Given the description of an element on the screen output the (x, y) to click on. 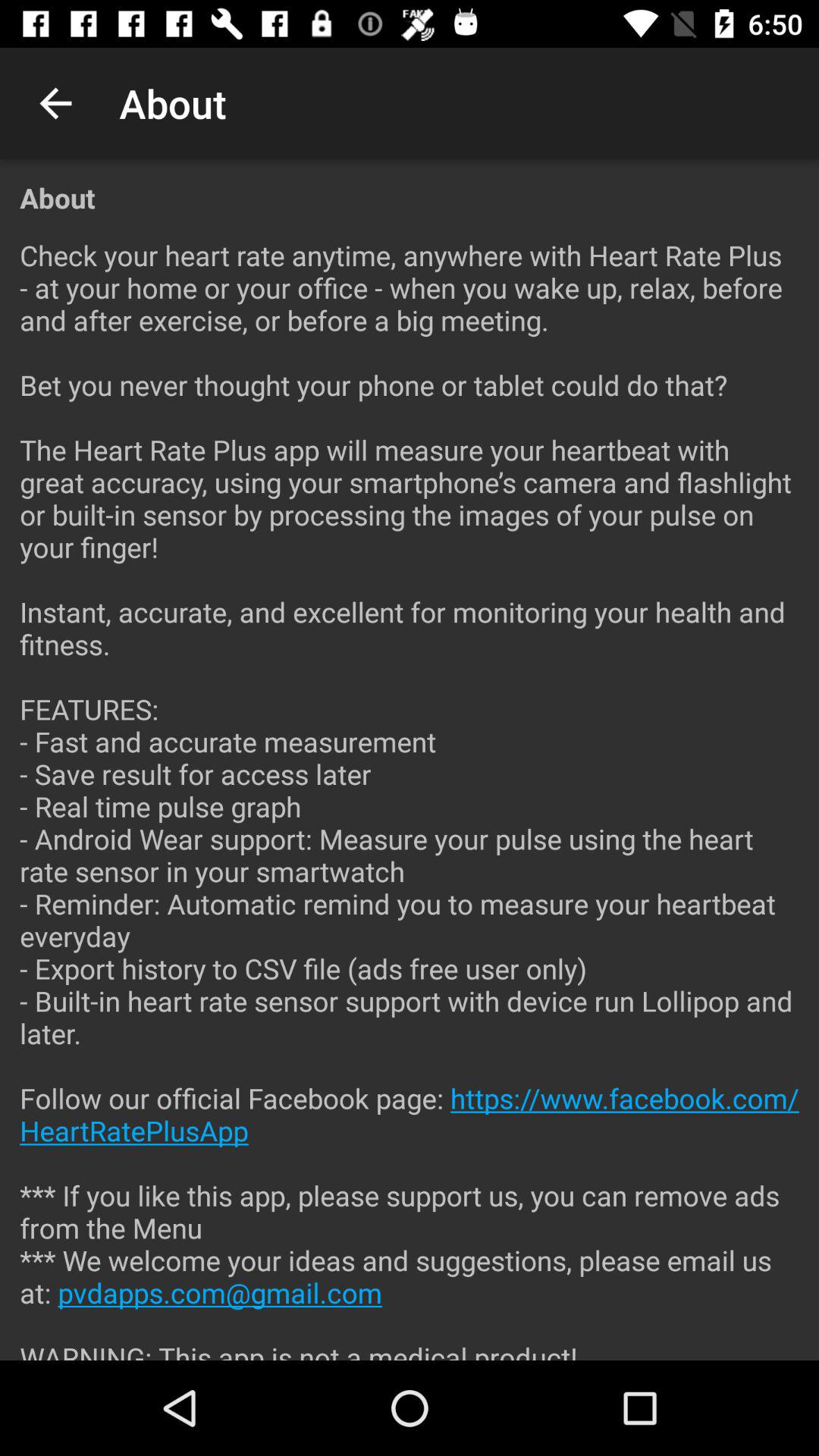
flip to the check your heart icon (409, 788)
